Given the description of an element on the screen output the (x, y) to click on. 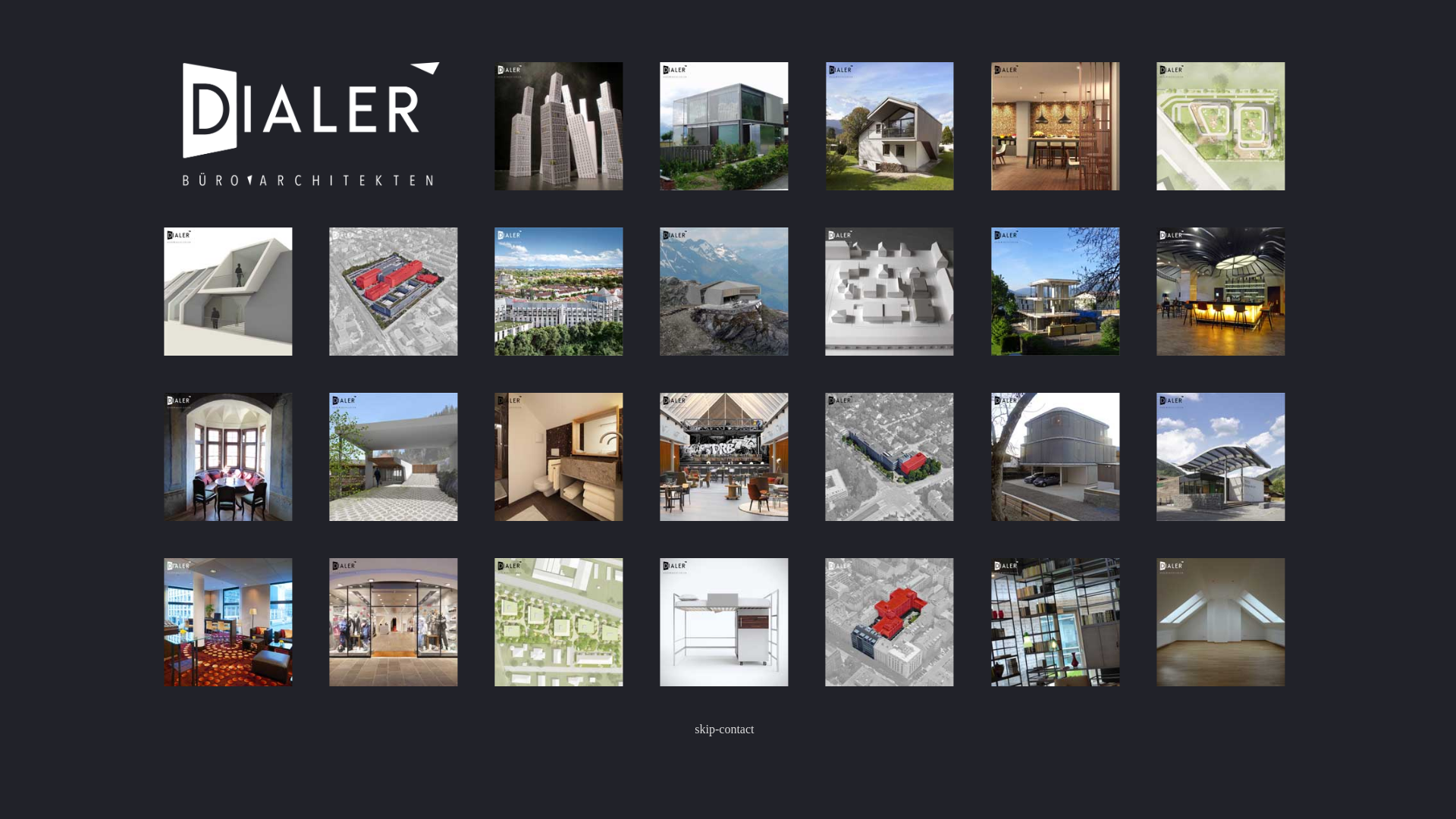
skip-contact Element type: text (723, 728)
